Given the description of an element on the screen output the (x, y) to click on. 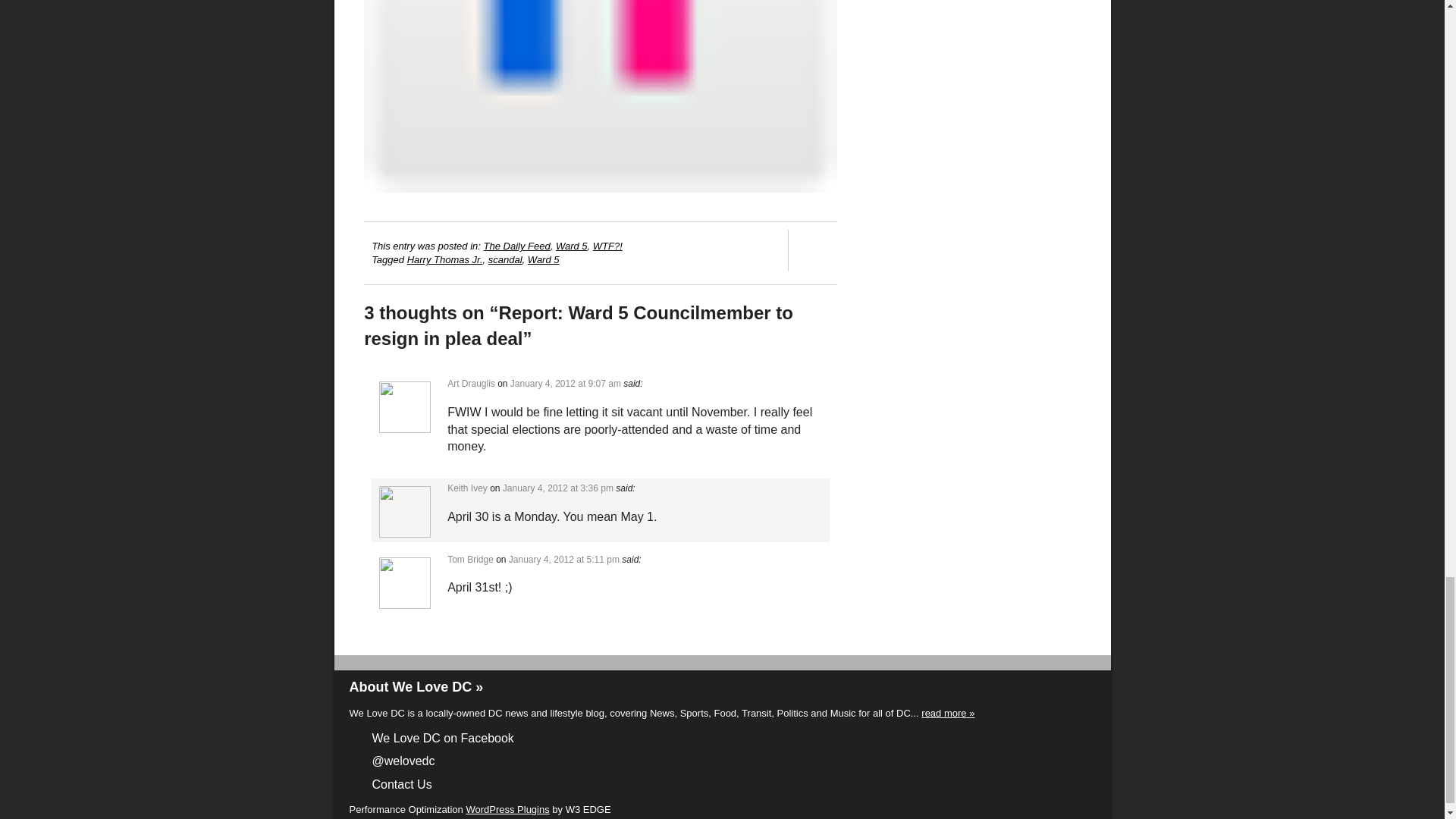
January 4, 2012 at 5:11 pm (564, 559)
Art Drauglis (470, 383)
WTF?! (607, 245)
scandal (504, 259)
The Daily Feed (516, 245)
January 4, 2012 at 9:07 am (566, 383)
Harry Thomas Jr. (445, 259)
Tom Bridge (469, 559)
January 4, 2012 at 3:36 pm (557, 488)
Keith Ivey (466, 488)
Ward 5 (572, 245)
Ward 5 (543, 259)
